Given the description of an element on the screen output the (x, y) to click on. 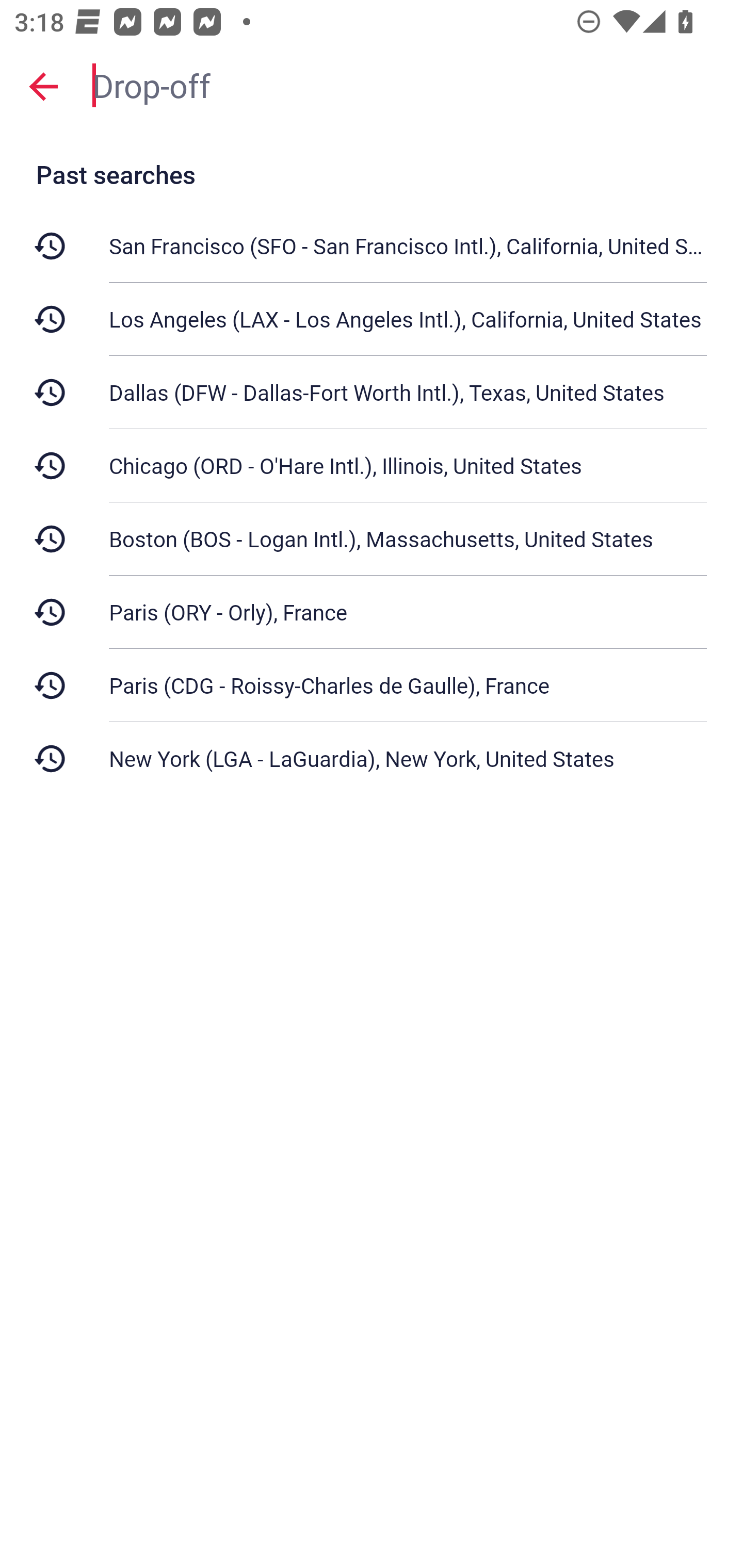
Drop-off,  (407, 85)
Close search screen (43, 86)
